Given the description of an element on the screen output the (x, y) to click on. 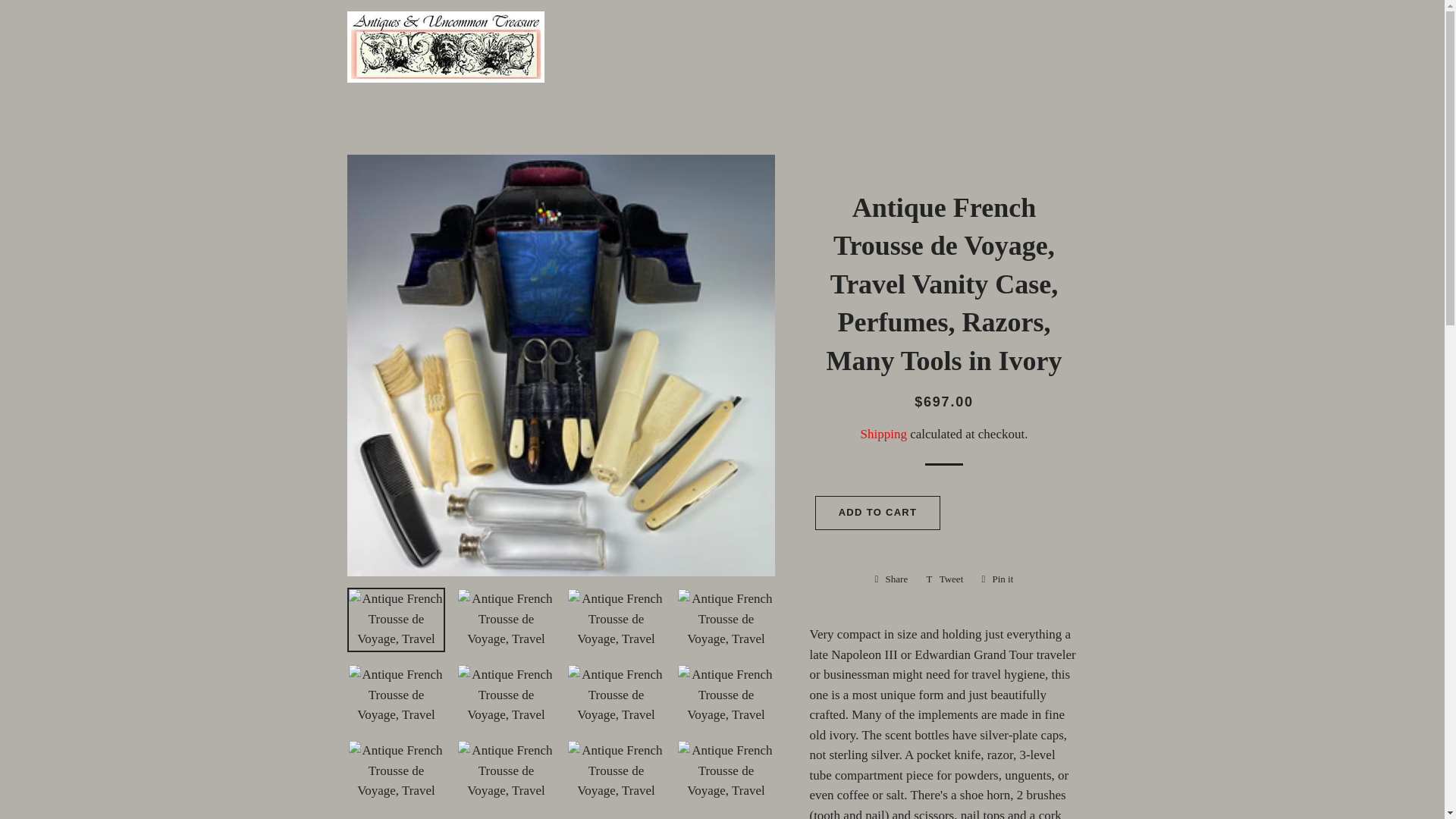
Share on Facebook (891, 579)
ADD TO CART (877, 512)
Pin on Pinterest (997, 579)
Shipping (891, 579)
Tweet on Twitter (944, 579)
